Given the description of an element on the screen output the (x, y) to click on. 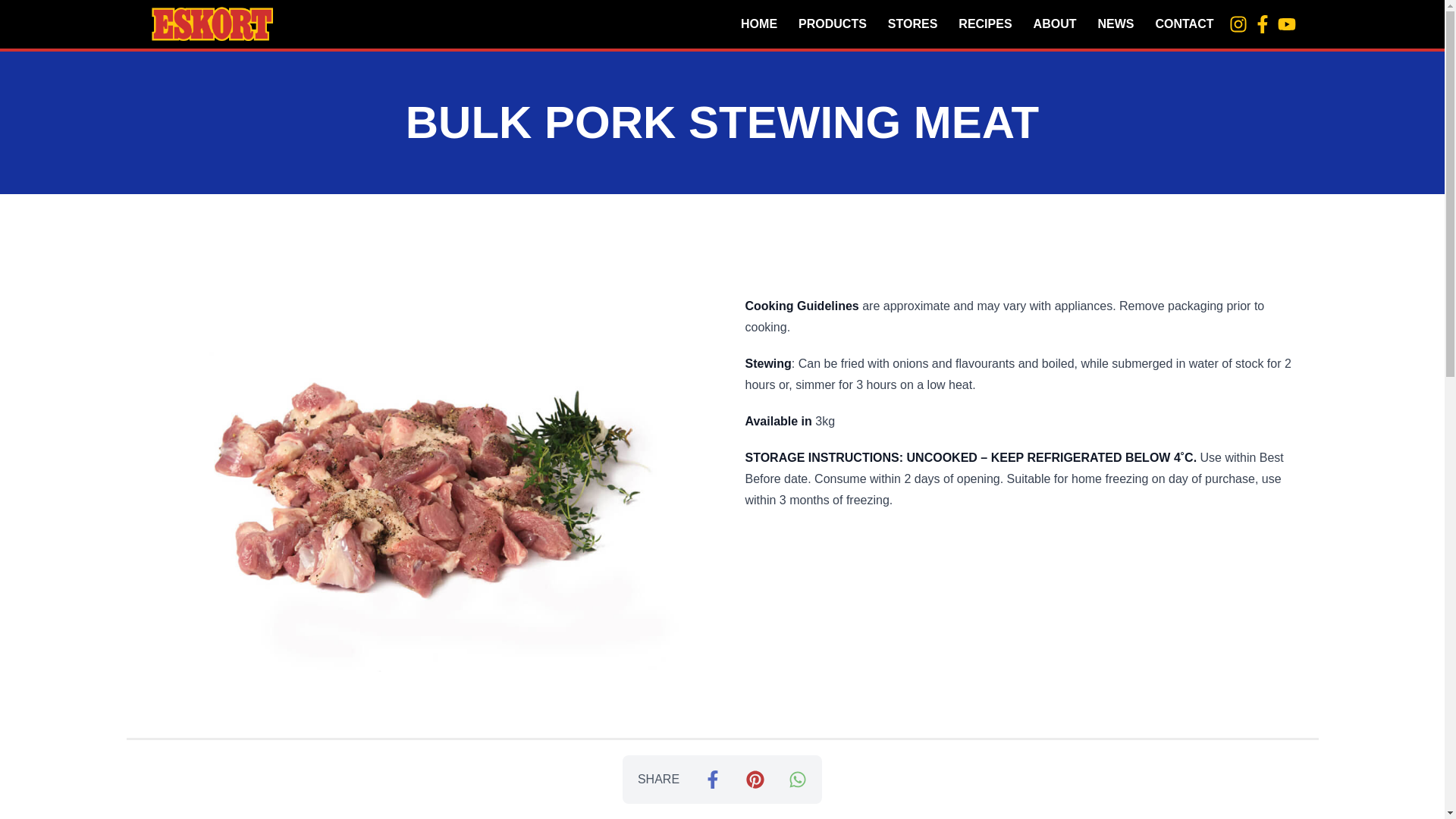
PRODUCTS (832, 21)
RECIPES (984, 21)
NEWS (1114, 21)
STORES (913, 21)
HOME (759, 21)
ABOUT (1055, 21)
CONTACT (1184, 21)
